Given the description of an element on the screen output the (x, y) to click on. 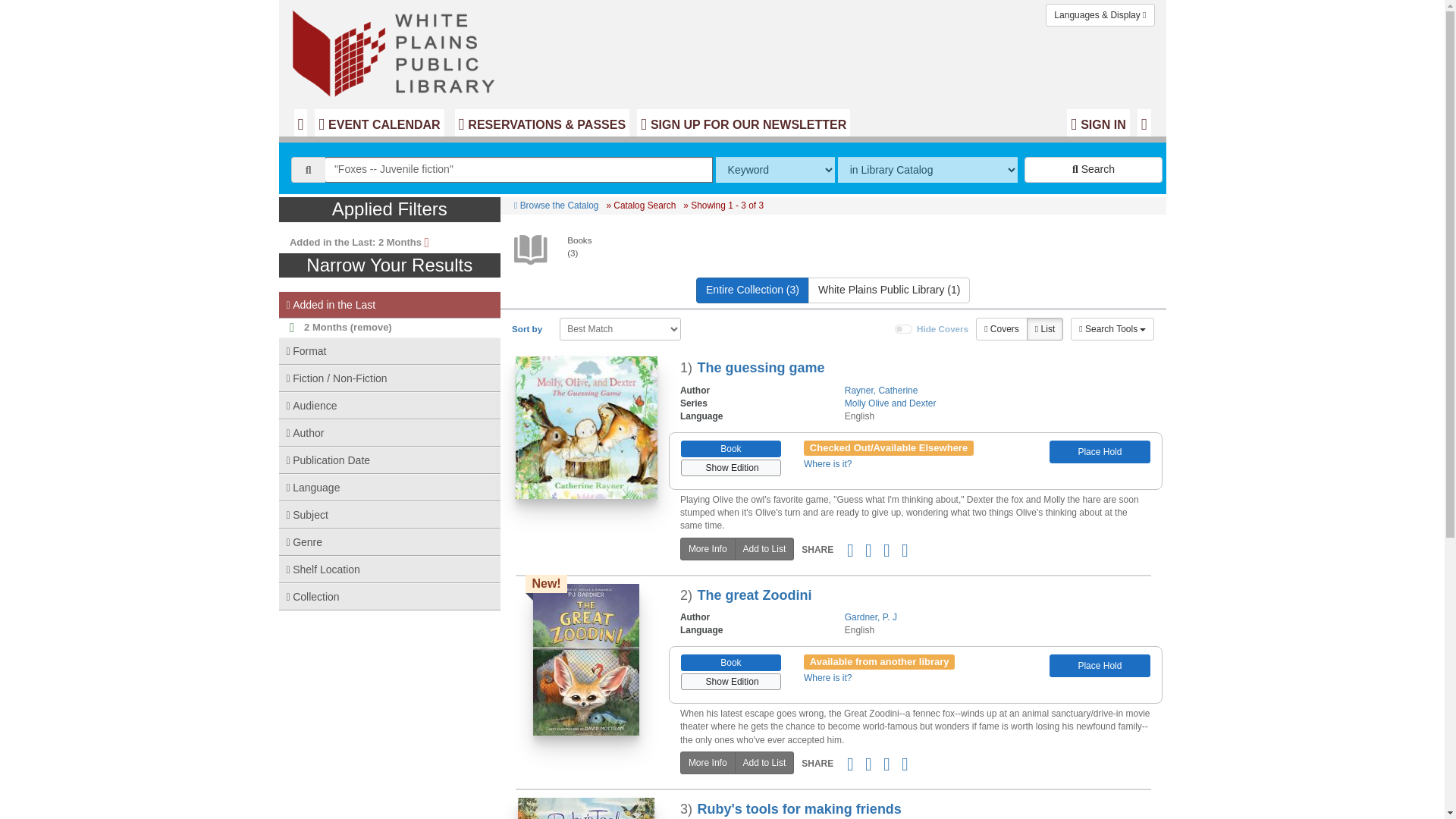
Library Home Page (395, 49)
 Search (1093, 169)
The method of searching. (775, 169)
"Foxes -- Juvenile fiction" (518, 169)
SIGN UP FOR OUR NEWSLETTER (743, 122)
SIGN IN (1098, 122)
EVENT CALENDAR (379, 122)
Login (1098, 122)
on (903, 328)
